Given the description of an element on the screen output the (x, y) to click on. 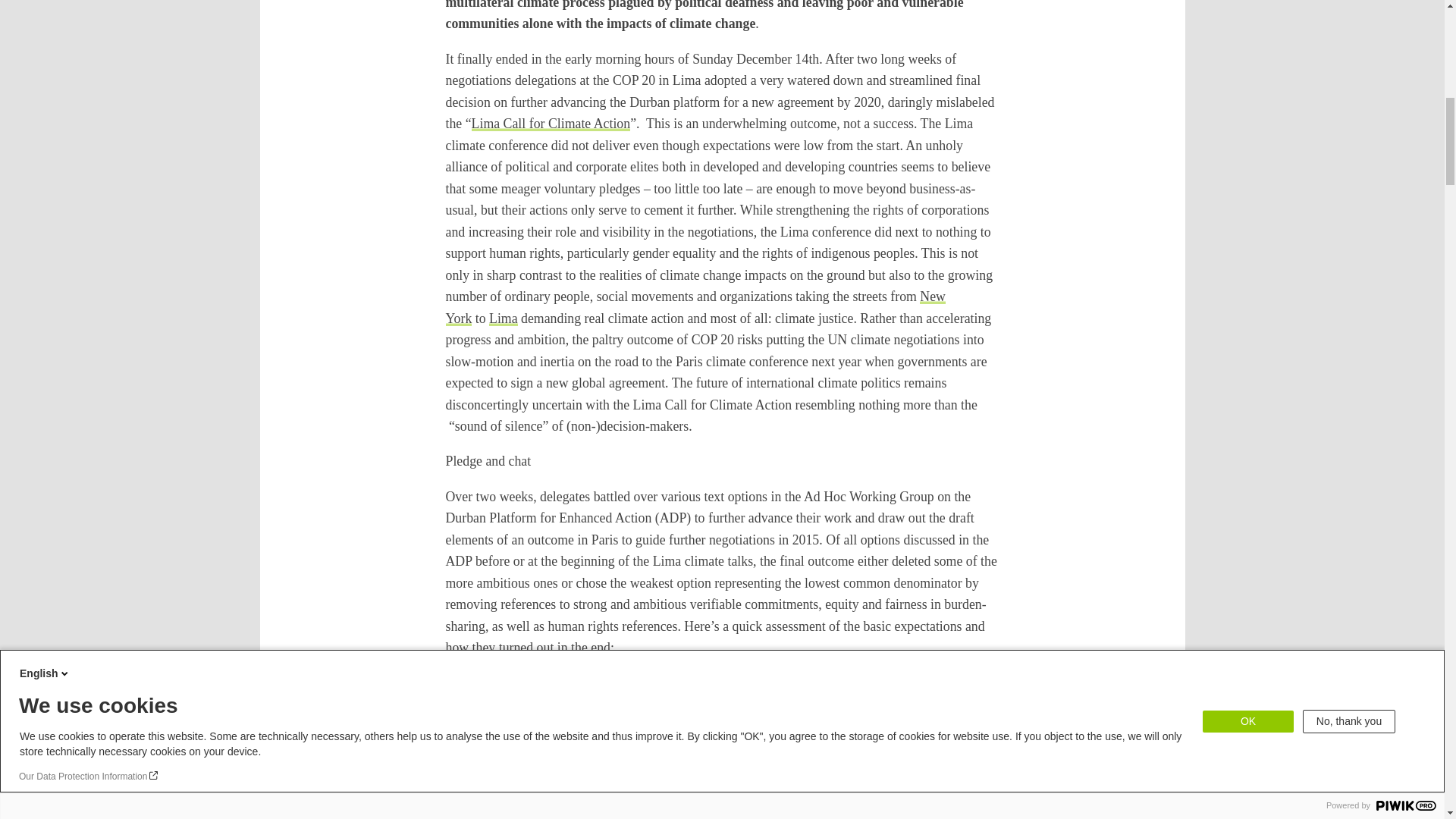
Lima (503, 318)
decided (847, 796)
Lima Call for Climate Action (550, 123)
